Given the description of an element on the screen output the (x, y) to click on. 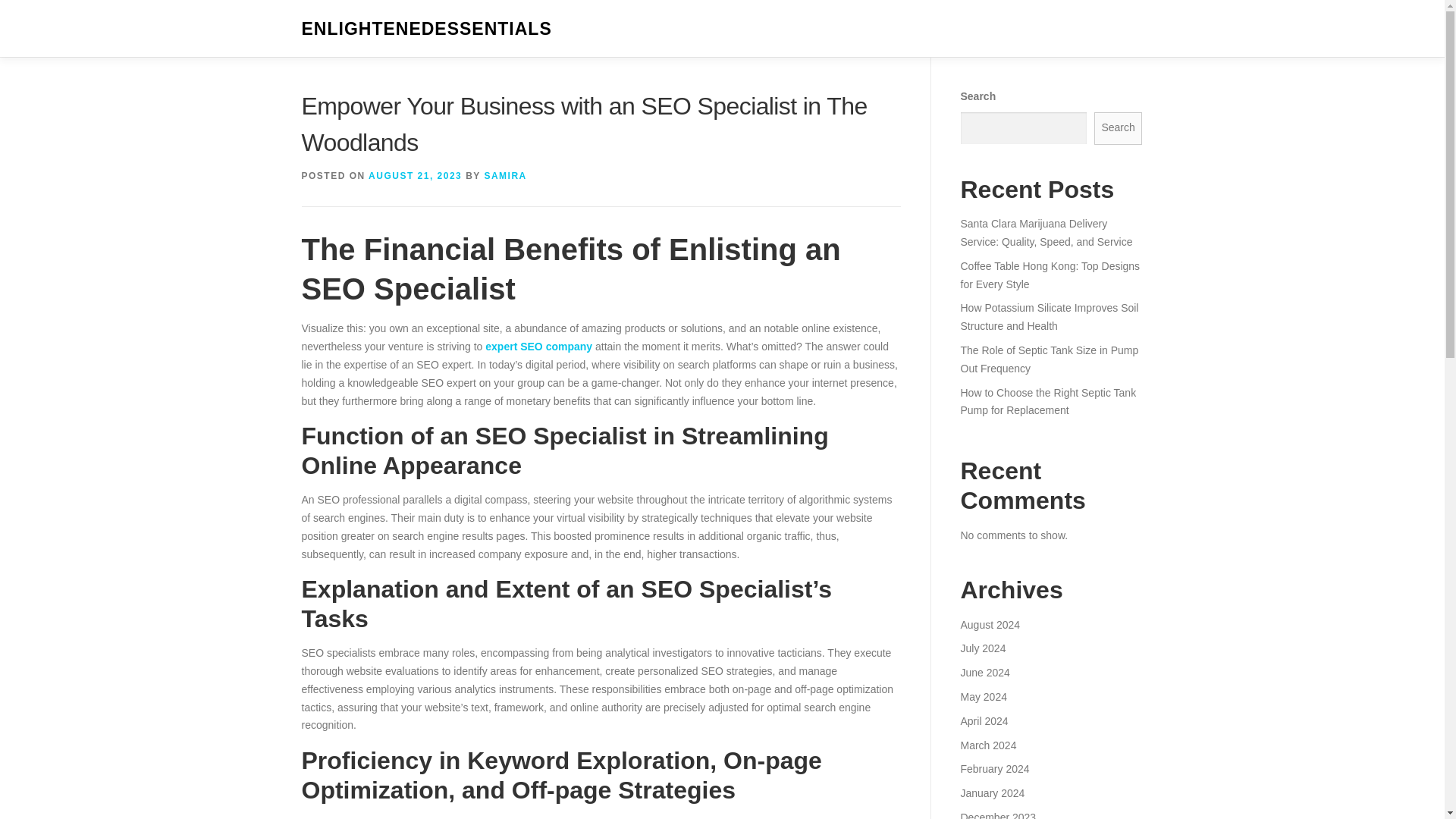
March 2024 (987, 744)
May 2024 (982, 696)
July 2024 (982, 648)
Coffee Table Hong Kong: Top Designs for Every Style (1049, 275)
February 2024 (994, 768)
June 2024 (984, 672)
Search (1118, 128)
April 2024 (983, 720)
expert SEO company (538, 346)
